Given the description of an element on the screen output the (x, y) to click on. 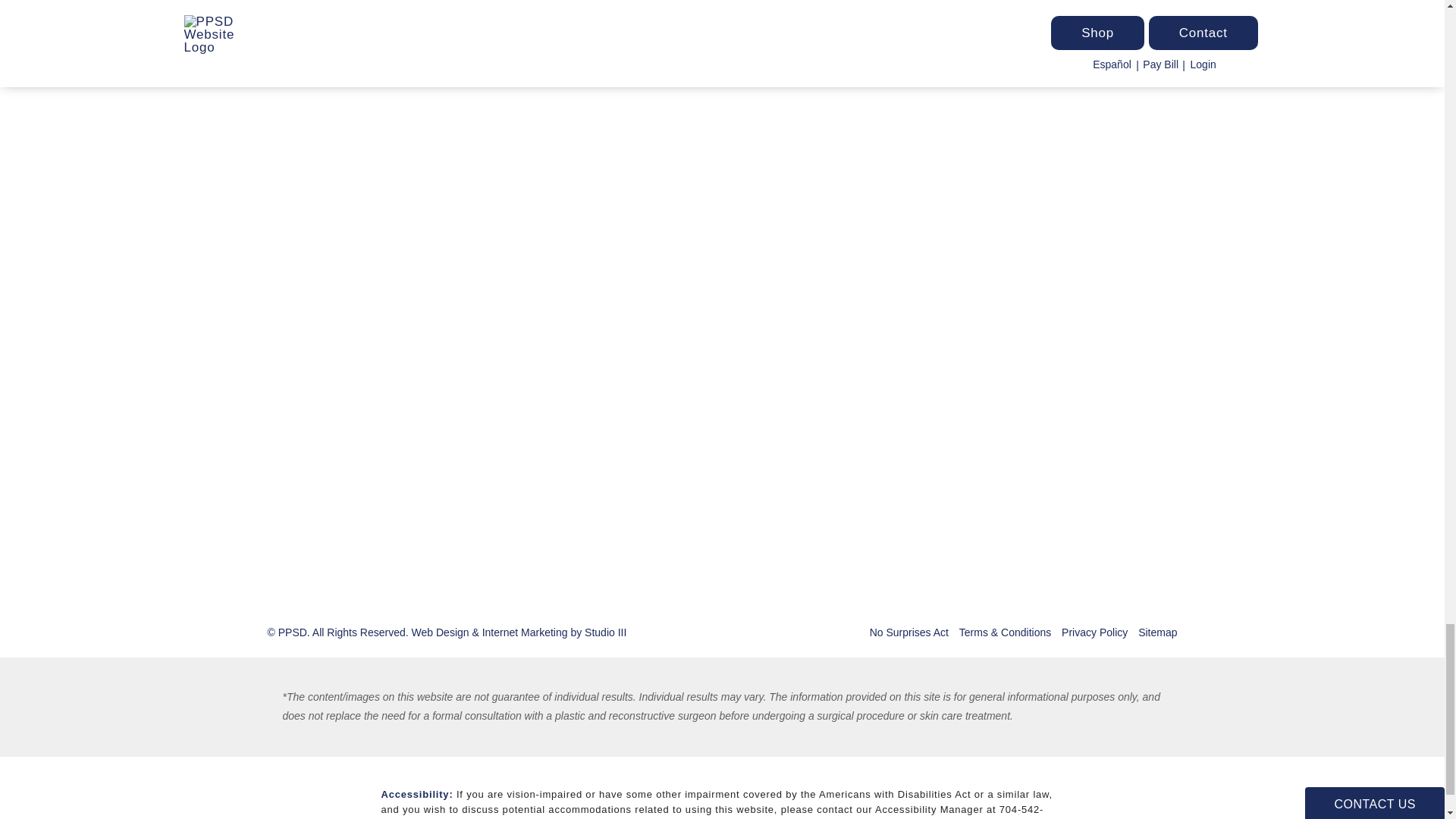
PPSD on Linkedin (431, 442)
PPSD on Instagram (326, 442)
PPSD on Facebook (361, 442)
PPSD on Twitter (396, 442)
